Given the description of an element on the screen output the (x, y) to click on. 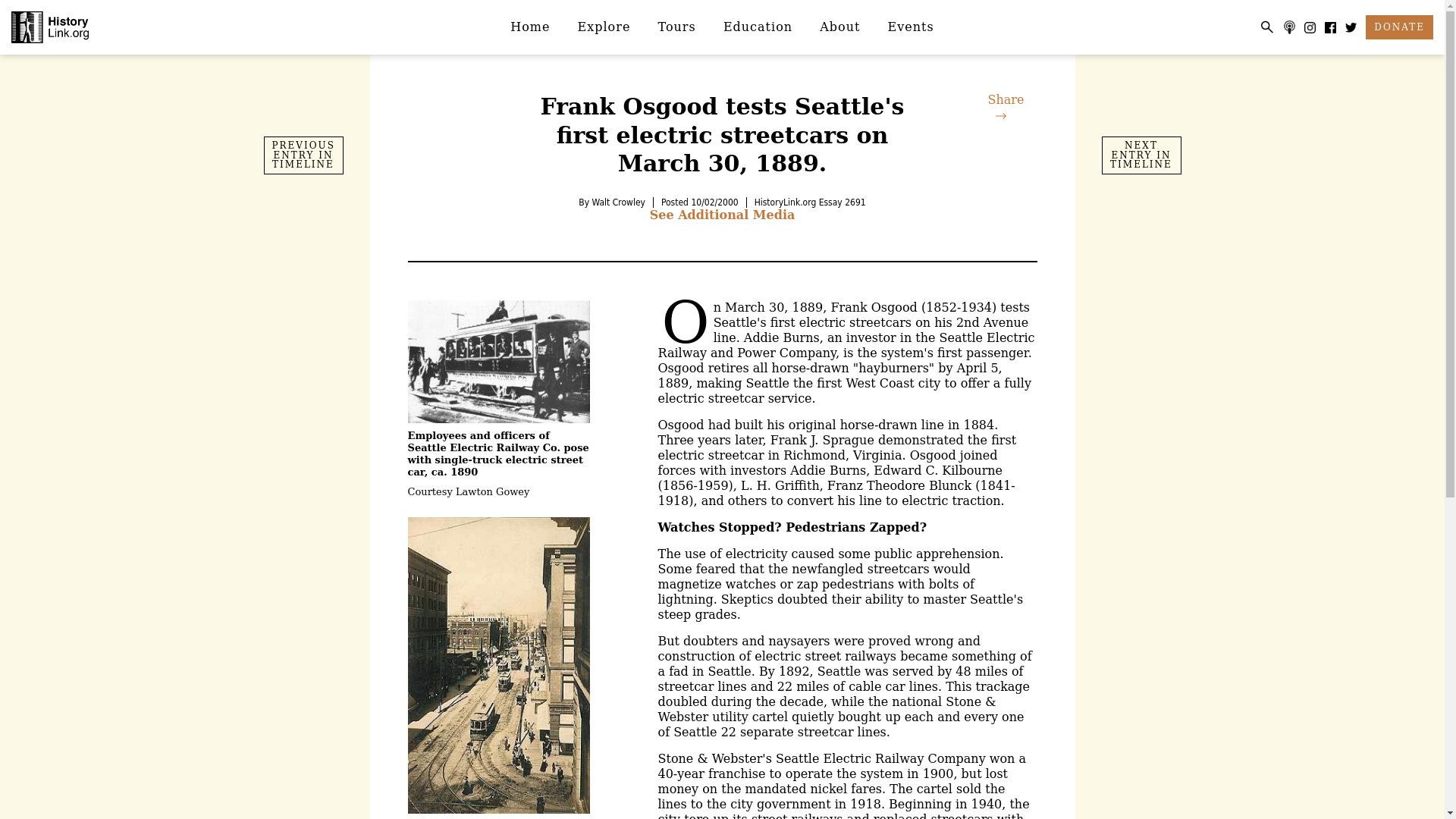
Next File (1140, 155)
Previous File (303, 155)
Education (758, 26)
Events (911, 26)
Tours (677, 26)
DONATE (1398, 27)
Explore (604, 26)
NEXT ENTRY IN TIMELINE (1140, 155)
PREVIOUS ENTRY IN TIMELINE (303, 155)
About (839, 26)
Home (529, 26)
